Given the description of an element on the screen output the (x, y) to click on. 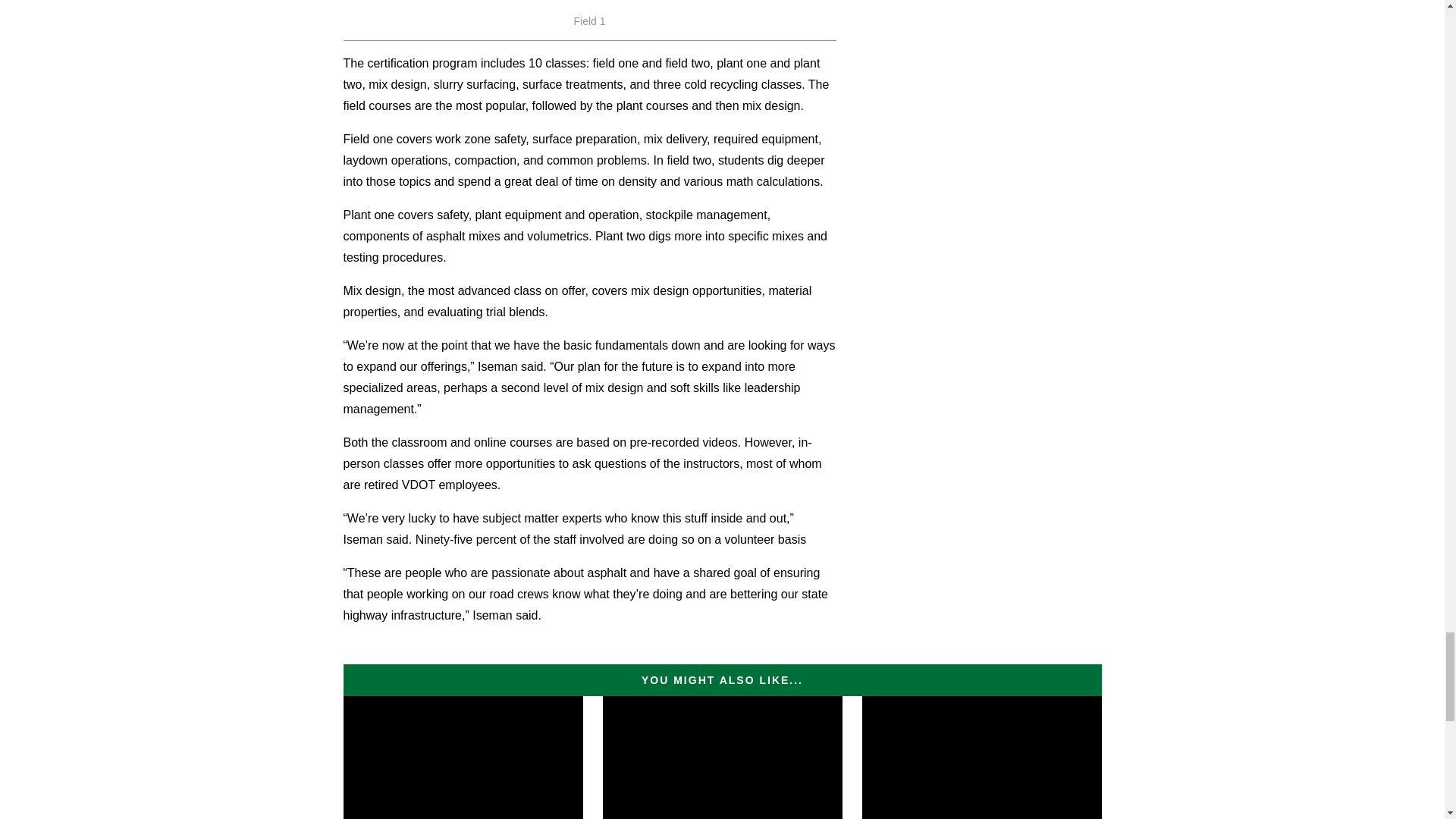
PHCo Lo-Density Rigid Tubular Drywell Tank Heaters (462, 757)
Iron Sheepdog Solves the Trucking Problem at the Start (980, 757)
Blaw-Knox: New 7000C Series Tracked Paver (721, 757)
